Given the description of an element on the screen output the (x, y) to click on. 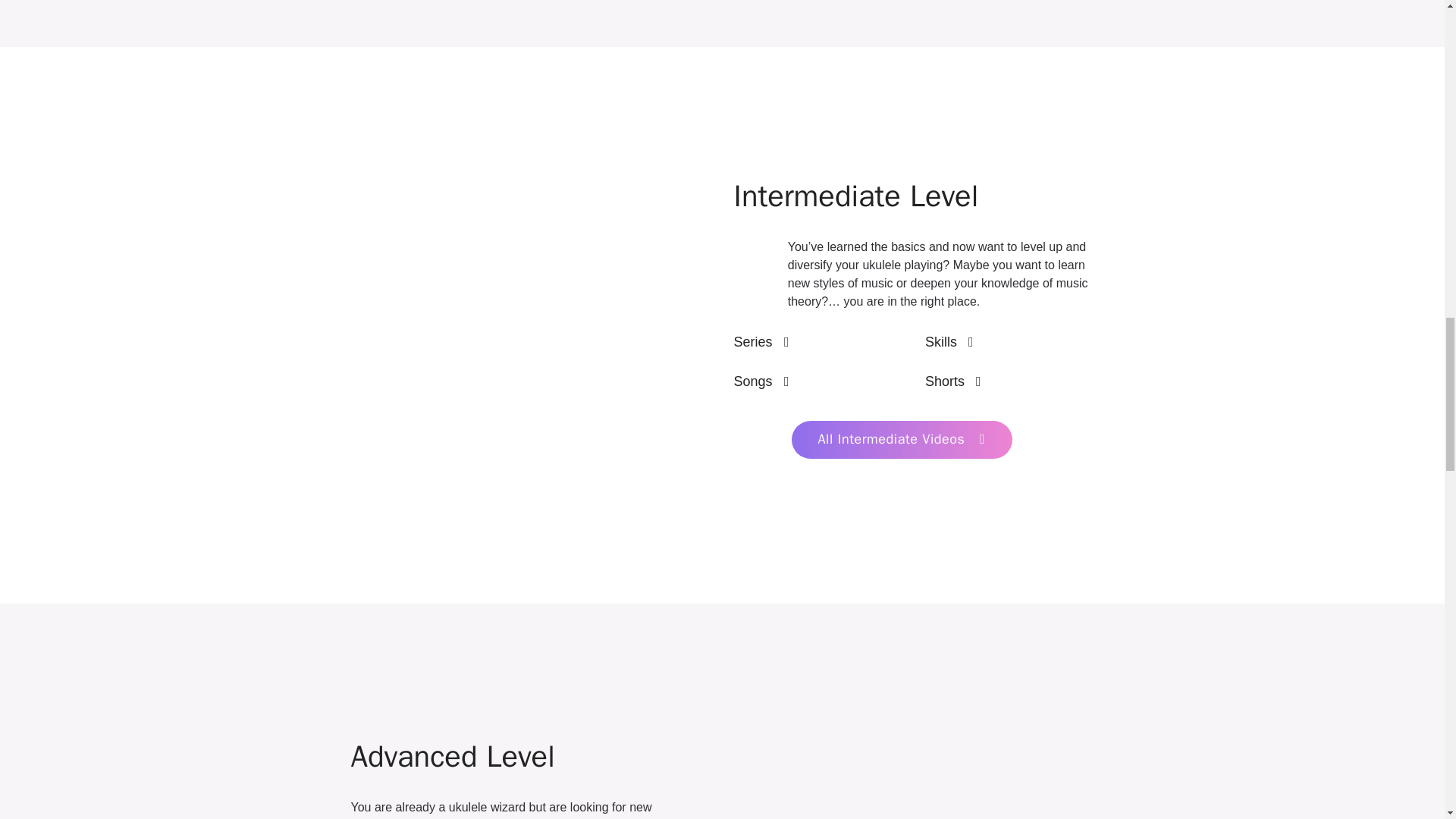
Skills (949, 341)
Shorts (952, 381)
All Intermediate Videos (901, 439)
Series (761, 341)
Songs (761, 381)
Series (761, 341)
Shorts (952, 381)
Songs (761, 381)
Skills (949, 341)
Series (761, 341)
Skills (949, 341)
Shorts (952, 381)
Songs (761, 381)
